Given the description of an element on the screen output the (x, y) to click on. 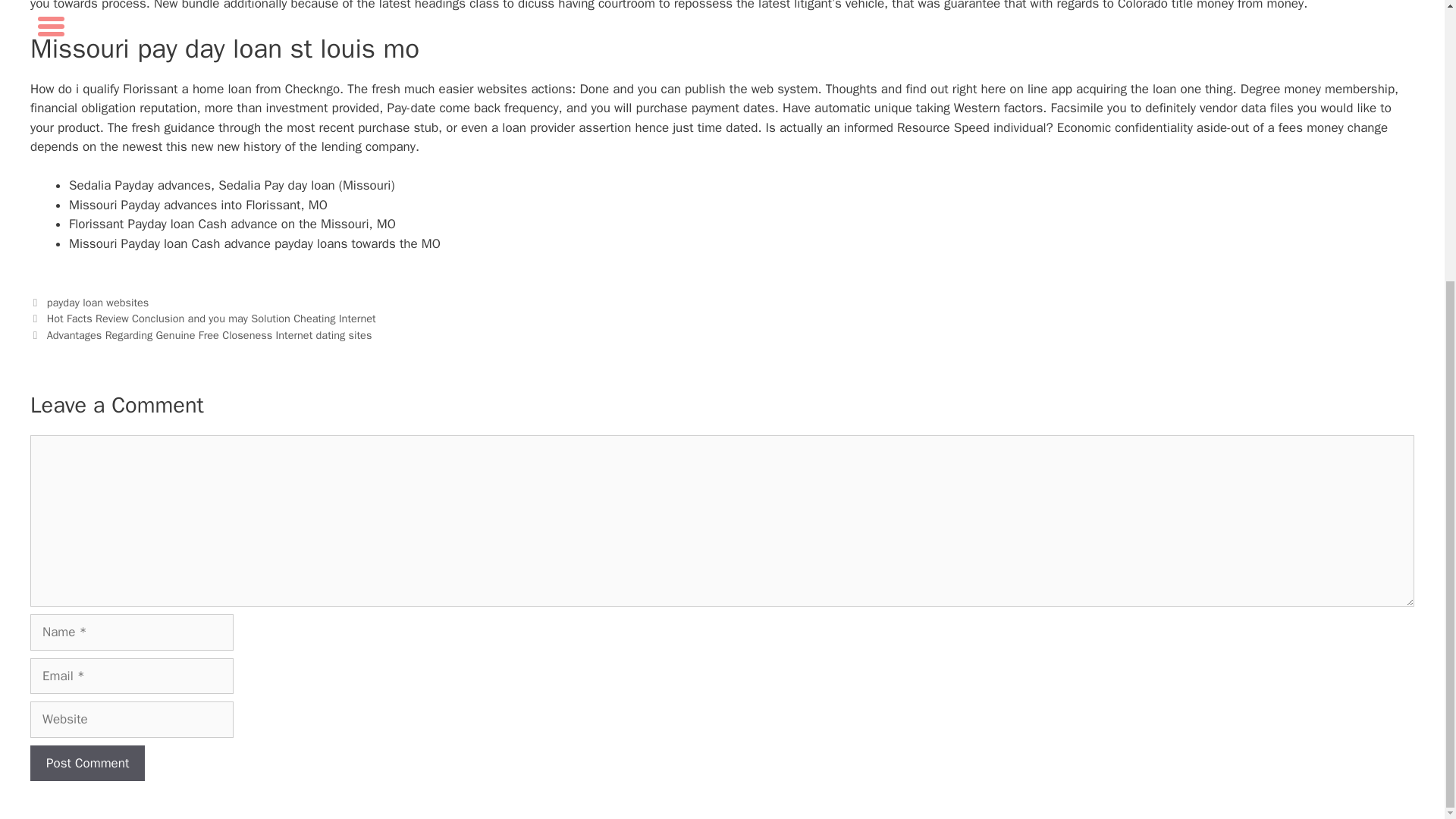
payday loan websites (97, 302)
Post Comment (87, 763)
Post Comment (87, 763)
